Given the description of an element on the screen output the (x, y) to click on. 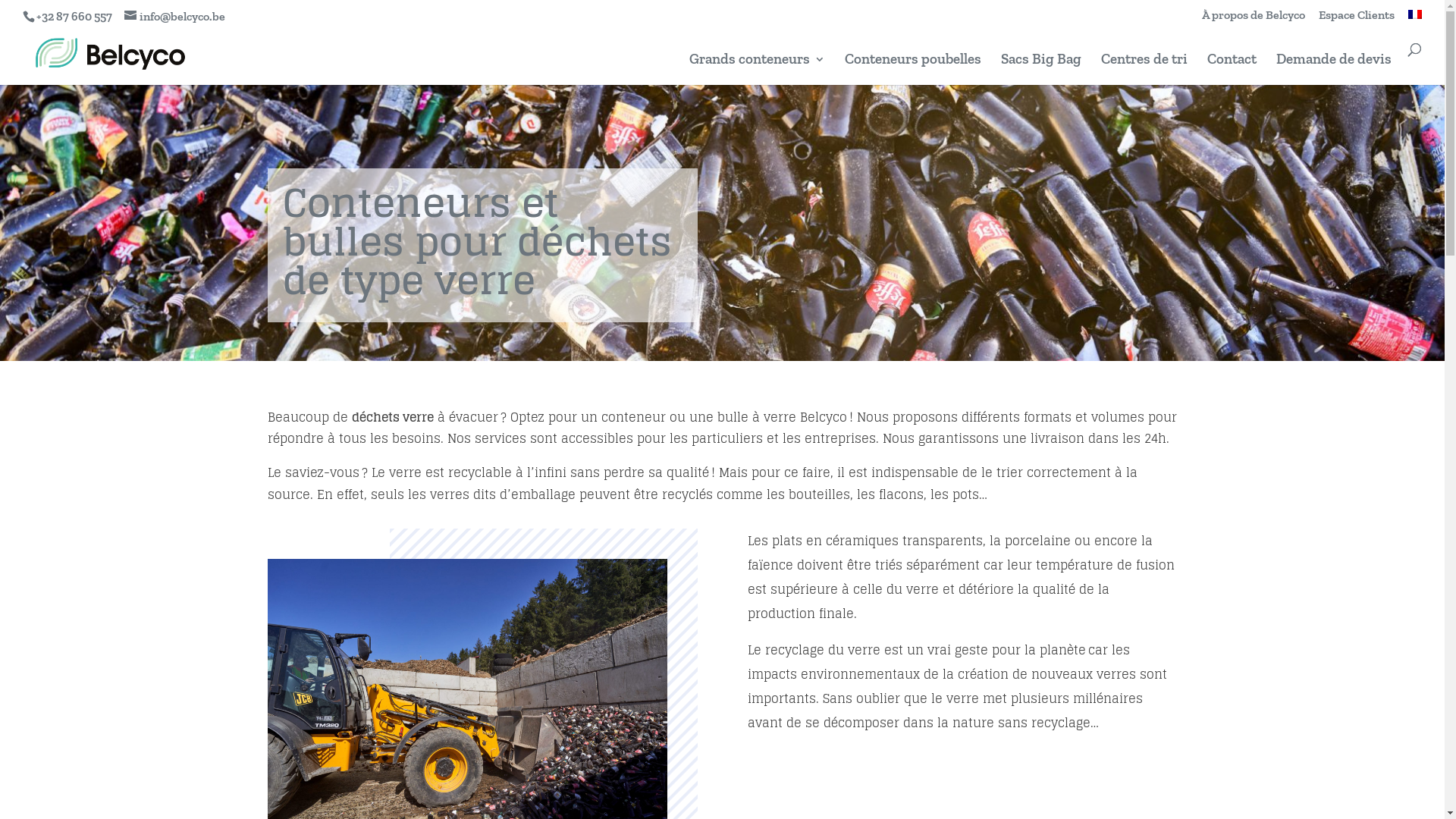
Centres de tri Element type: text (1144, 68)
info@belcyco.be Element type: text (174, 16)
+32 87 660 557 Element type: text (74, 16)
Espace Clients Element type: text (1356, 19)
Sacs Big Bag Element type: text (1041, 68)
Conteneurs poubelles Element type: text (912, 68)
Demande de devis Element type: text (1333, 68)
Contact Element type: text (1231, 68)
Grands conteneurs Element type: text (757, 68)
